Given the description of an element on the screen output the (x, y) to click on. 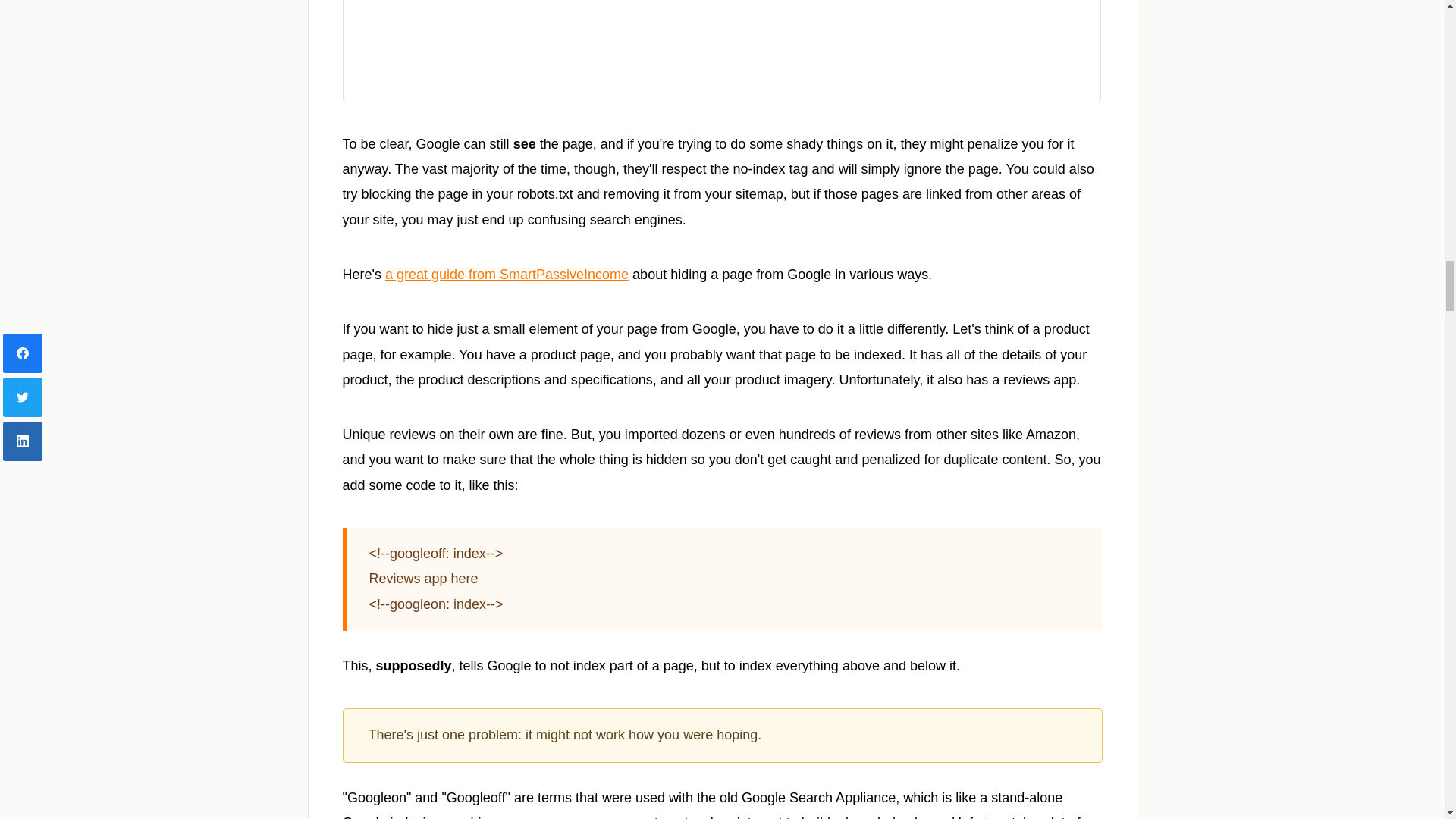
a great guide from SmartPassiveIncome (506, 273)
